Given the description of an element on the screen output the (x, y) to click on. 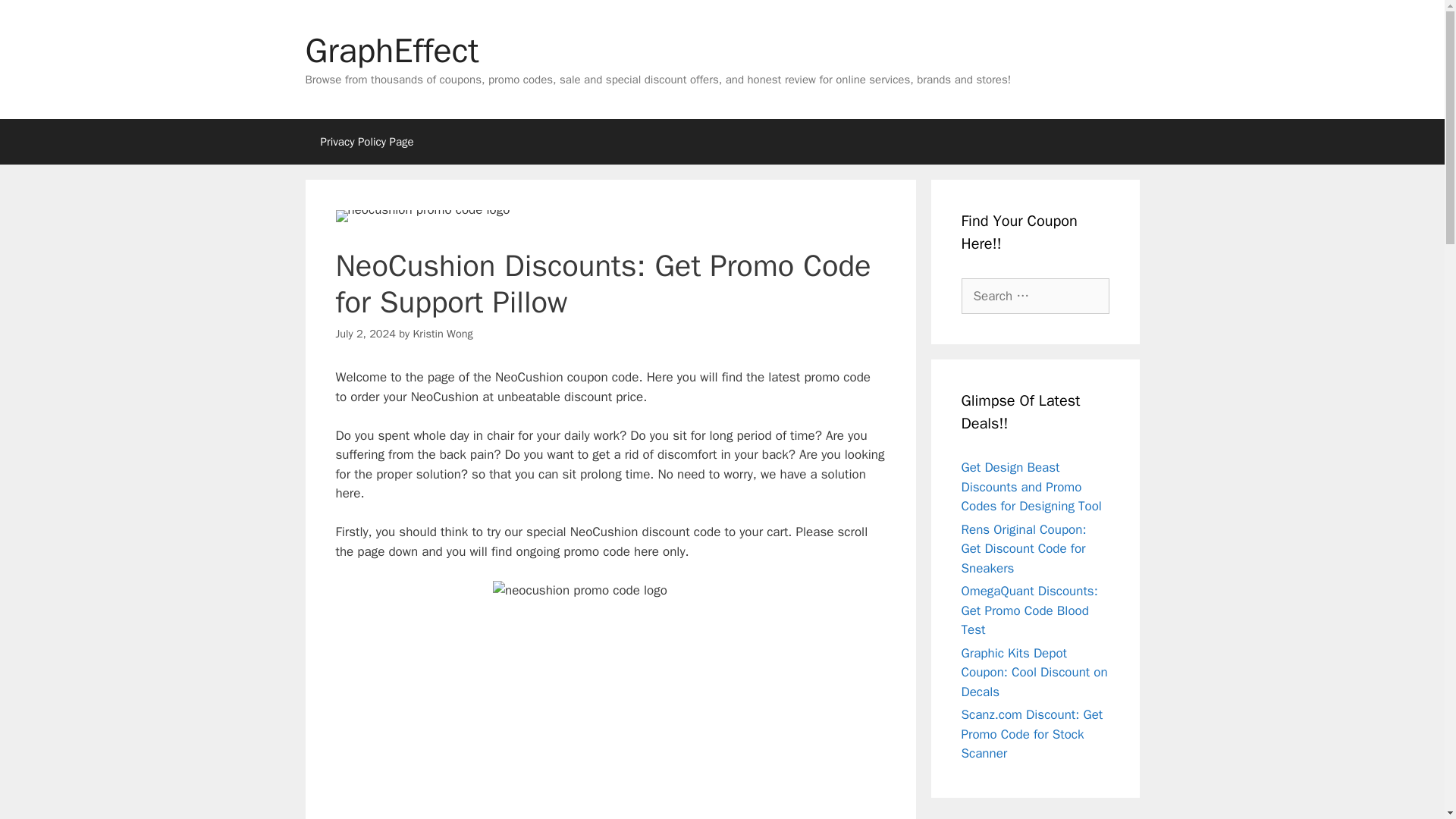
Graphic Kits Depot Coupon: Cool Discount on Decals (1034, 671)
View all posts by Kristin Wong (441, 333)
Search (35, 18)
GraphEffect (391, 50)
Scanz.com Discount: Get Promo Code for Stock Scanner (1031, 733)
Search for: (1034, 295)
OmegaQuant Discounts: Get Promo Code Blood Test (1028, 610)
Rens Original Coupon: Get Discount Code for Sneakers (1023, 548)
Kristin Wong (441, 333)
